Given the description of an element on the screen output the (x, y) to click on. 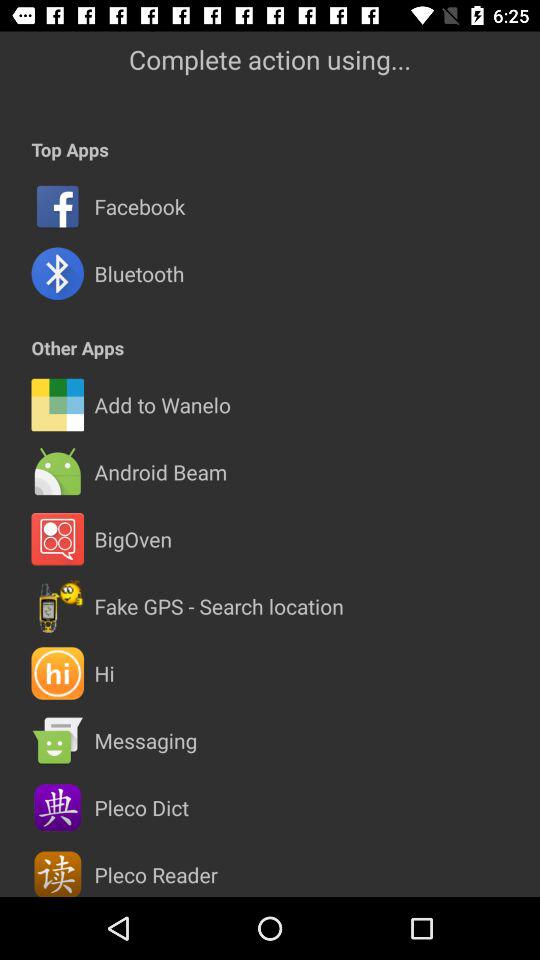
jump until the bluetooth (139, 273)
